Given the description of an element on the screen output the (x, y) to click on. 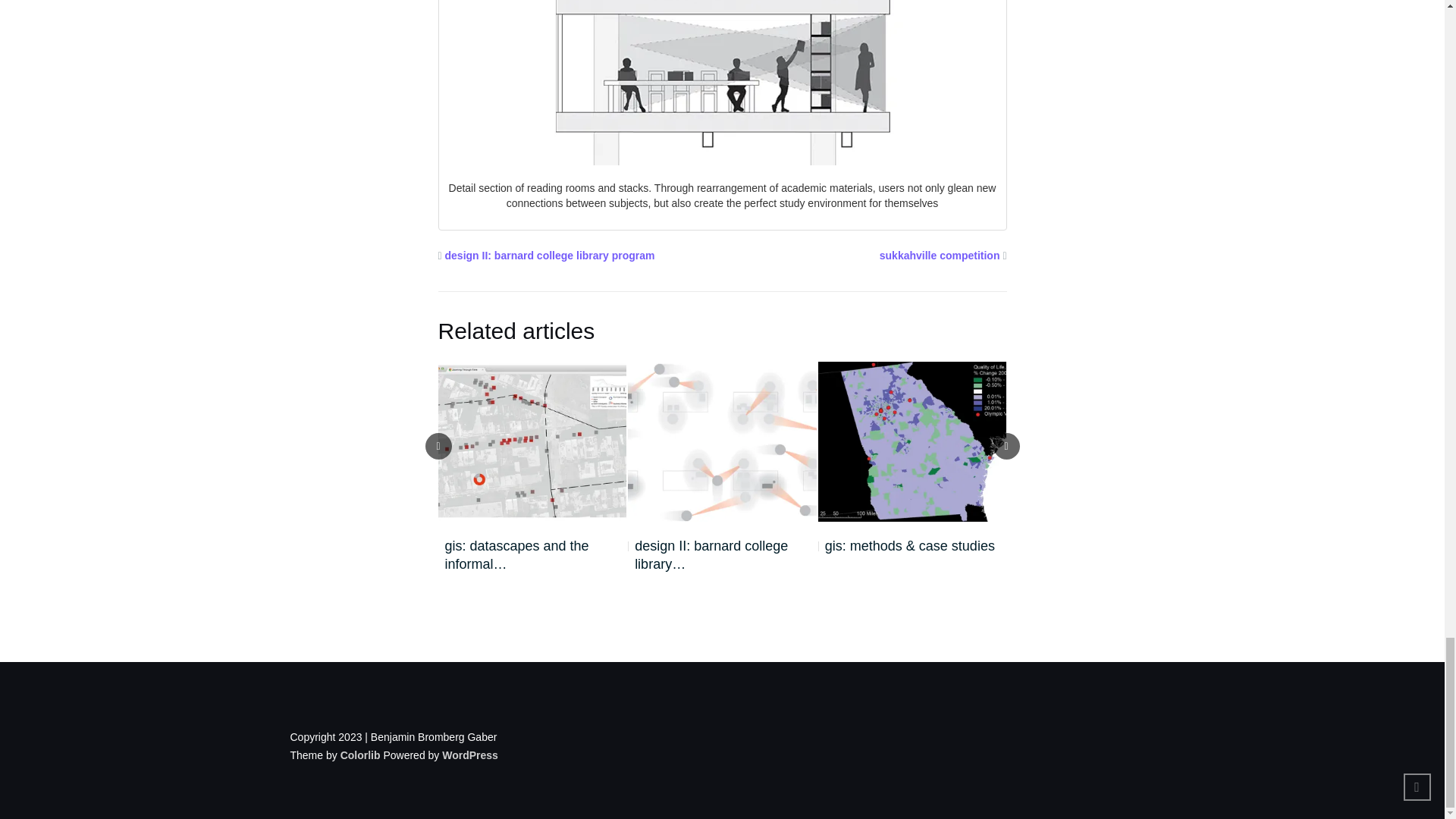
WordPress.org (469, 755)
Colorlib (360, 755)
Colorlib (360, 755)
sukkahville competition (939, 255)
design II: barnard college library program (550, 255)
